Given the description of an element on the screen output the (x, y) to click on. 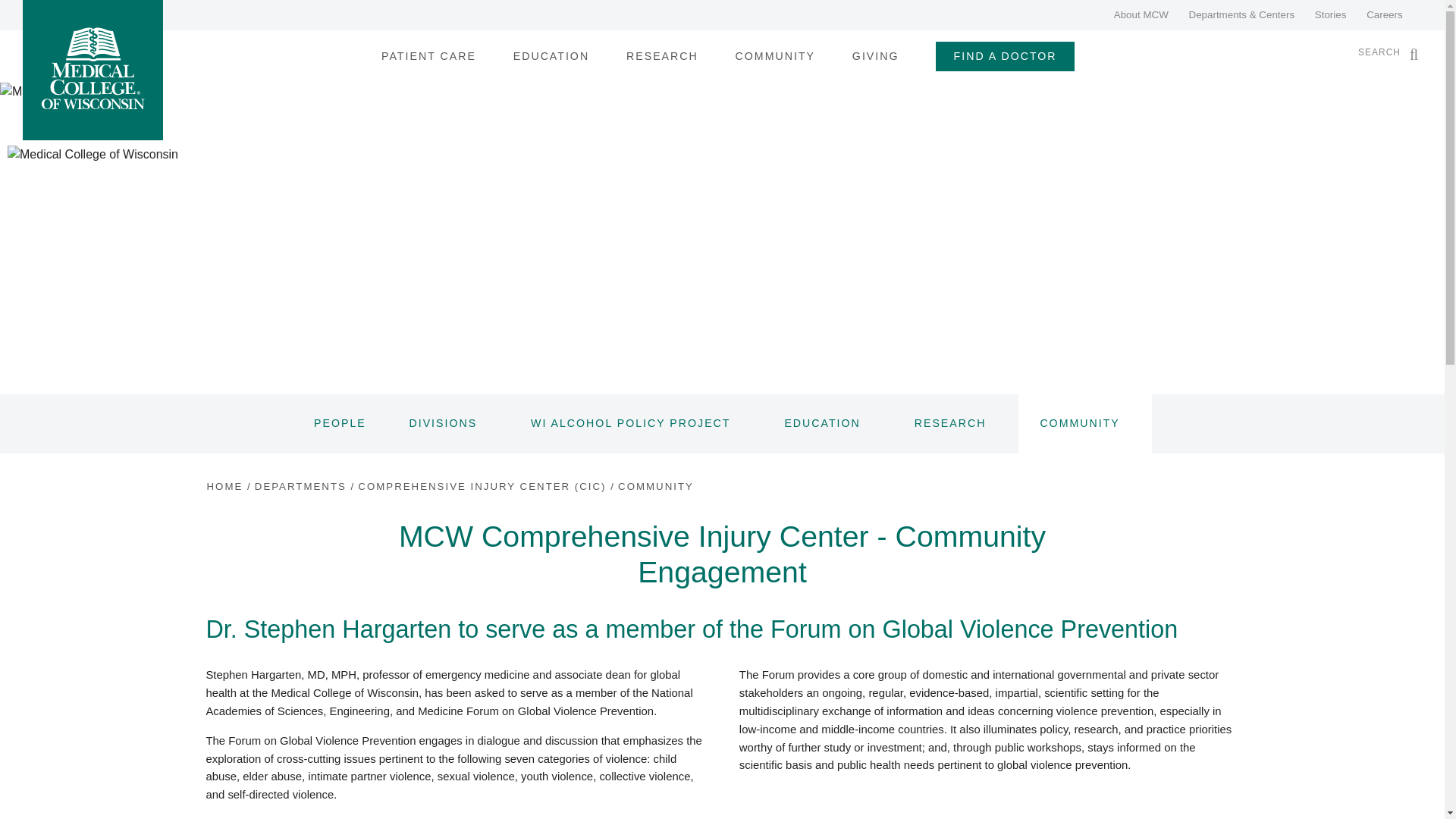
PATIENT CARE (428, 56)
EDUCATION (551, 56)
COMMUNITY (775, 56)
SEARCH (1383, 52)
RESEARCH (662, 56)
